Given the description of an element on the screen output the (x, y) to click on. 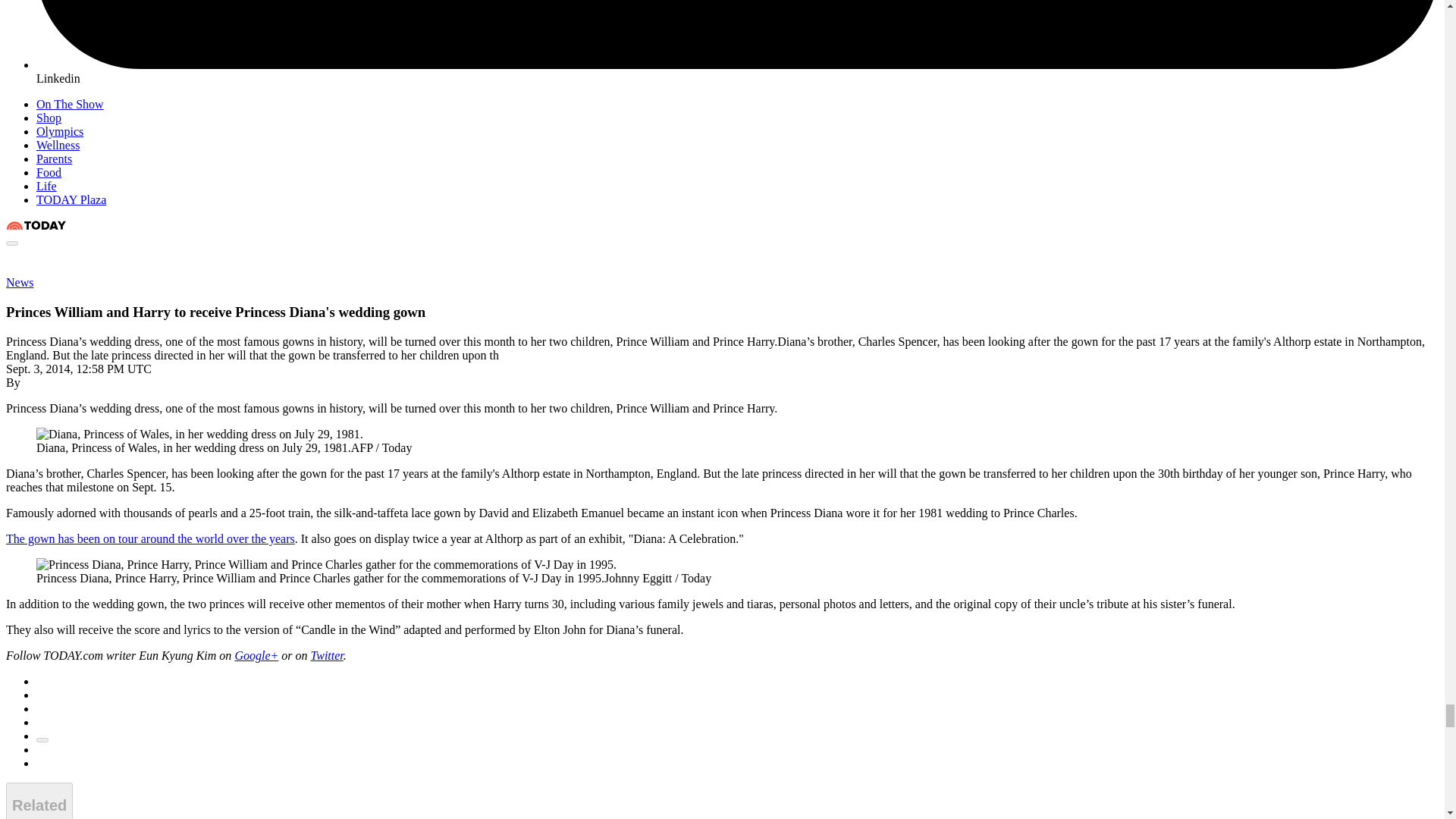
mobile-banner-fb-like (176, 259)
